Given the description of an element on the screen output the (x, y) to click on. 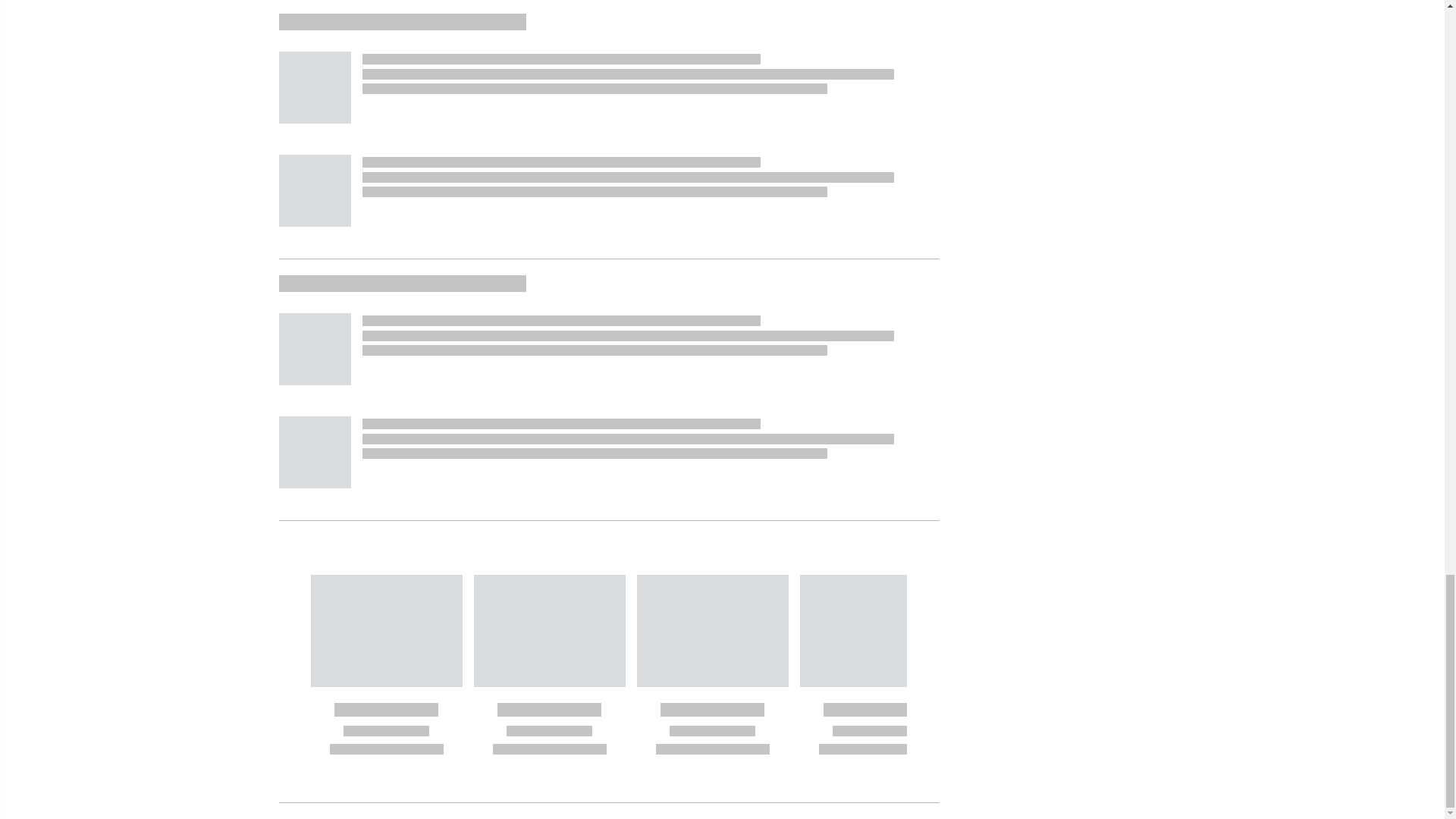
Placeholder (314, 87)
Placeholder (314, 348)
Placeholder (314, 190)
Placeholder (314, 452)
